Given the description of an element on the screen output the (x, y) to click on. 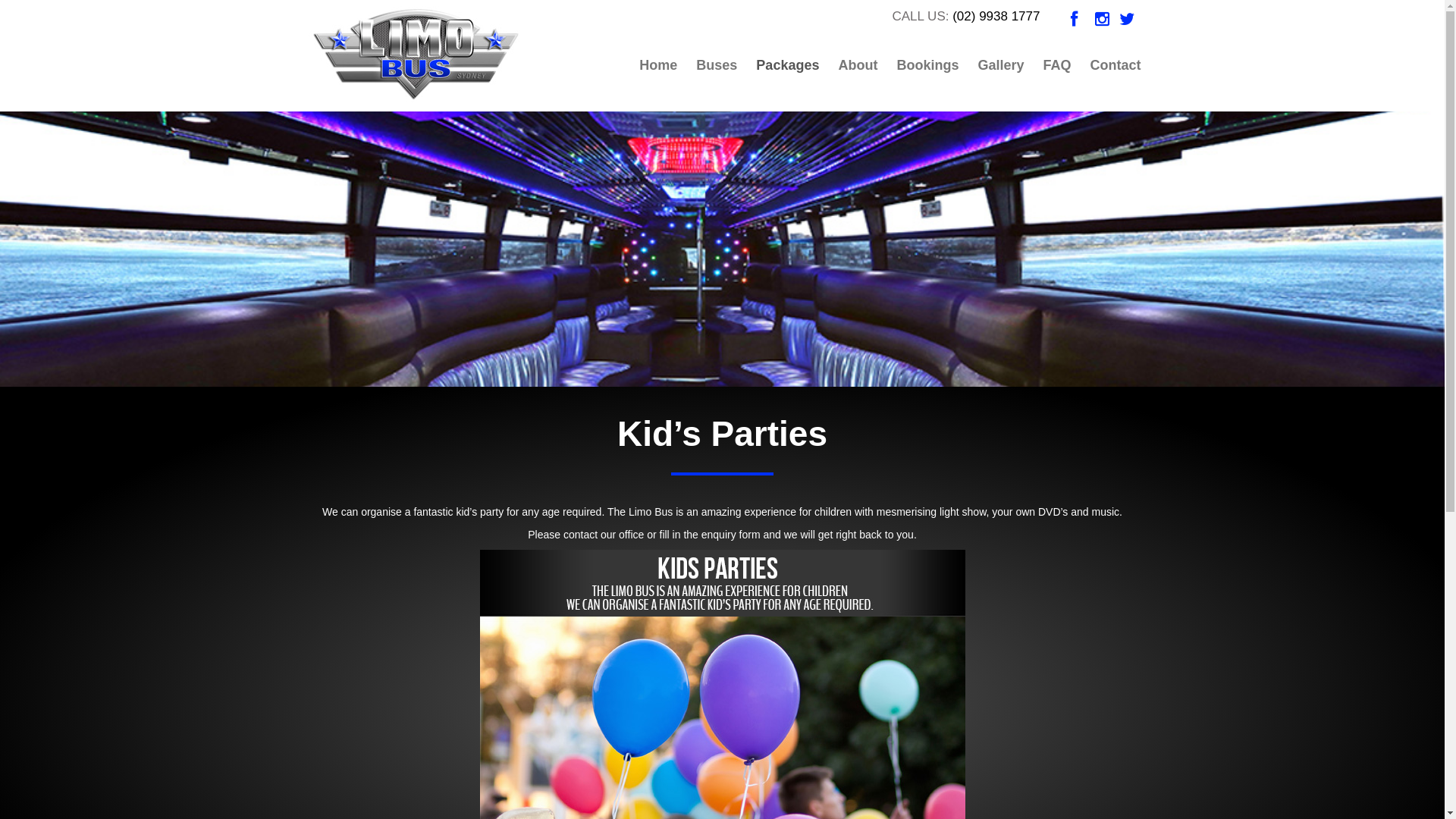
Bookings Element type: text (926, 64)
(02) 9938 1777 Element type: text (995, 16)
Packages Element type: text (787, 64)
Contact Element type: text (1114, 64)
FAQ Element type: text (1055, 64)
Buses Element type: text (716, 64)
Home Element type: text (657, 64)
About Element type: text (857, 64)
Gallery Element type: text (999, 64)
